Given the description of an element on the screen output the (x, y) to click on. 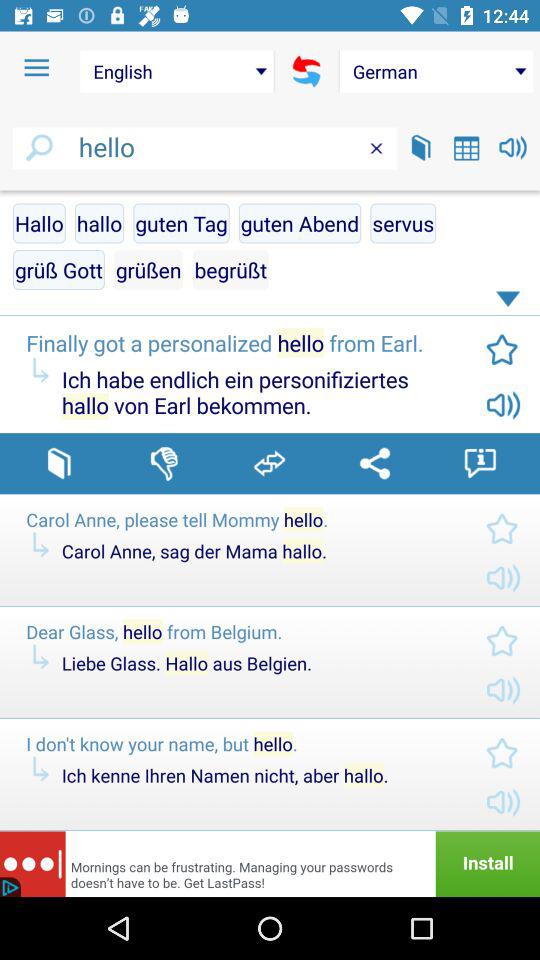
speak the word (512, 147)
